Given the description of an element on the screen output the (x, y) to click on. 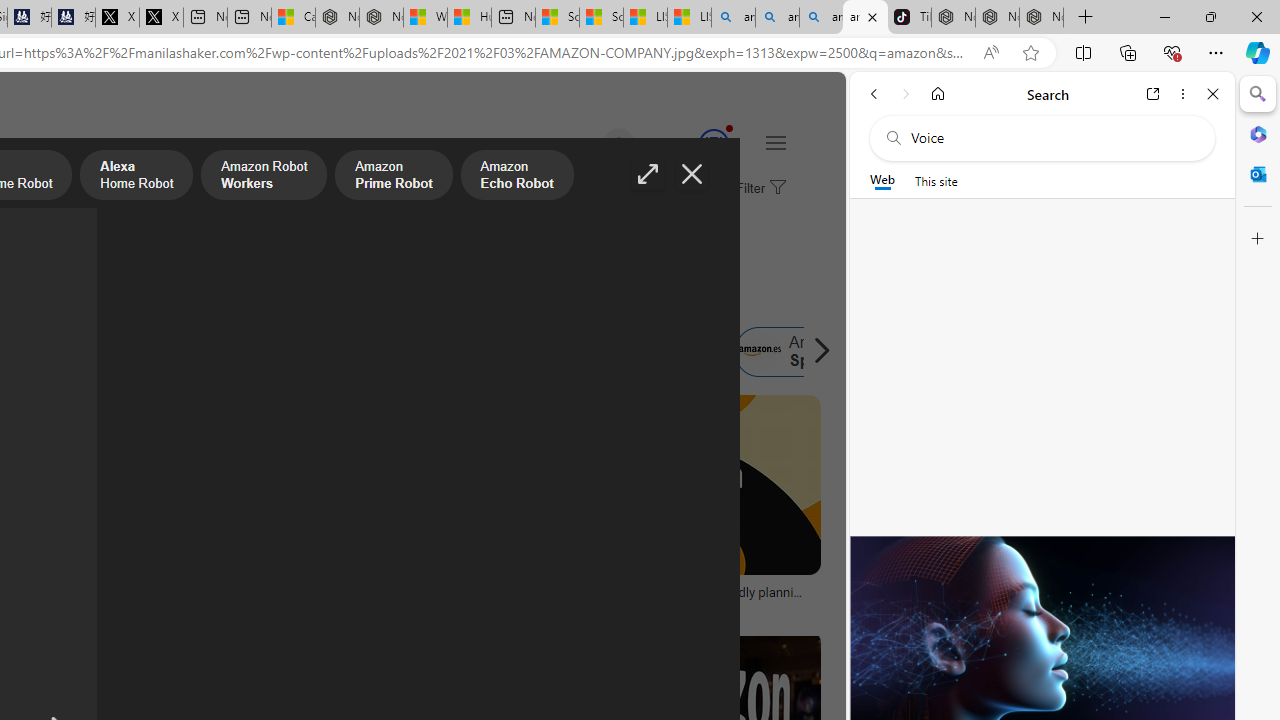
Amazon.com.au (343, 351)
Eugene (590, 143)
Amazon Forest (517, 351)
Class: medal-circled (713, 143)
Amazon Robot Workers (263, 177)
Amazon Prime Robot (394, 177)
TikTok (909, 17)
Customize (1258, 239)
Close image (692, 173)
Forward (906, 93)
Class: item col (801, 351)
